Given the description of an element on the screen output the (x, y) to click on. 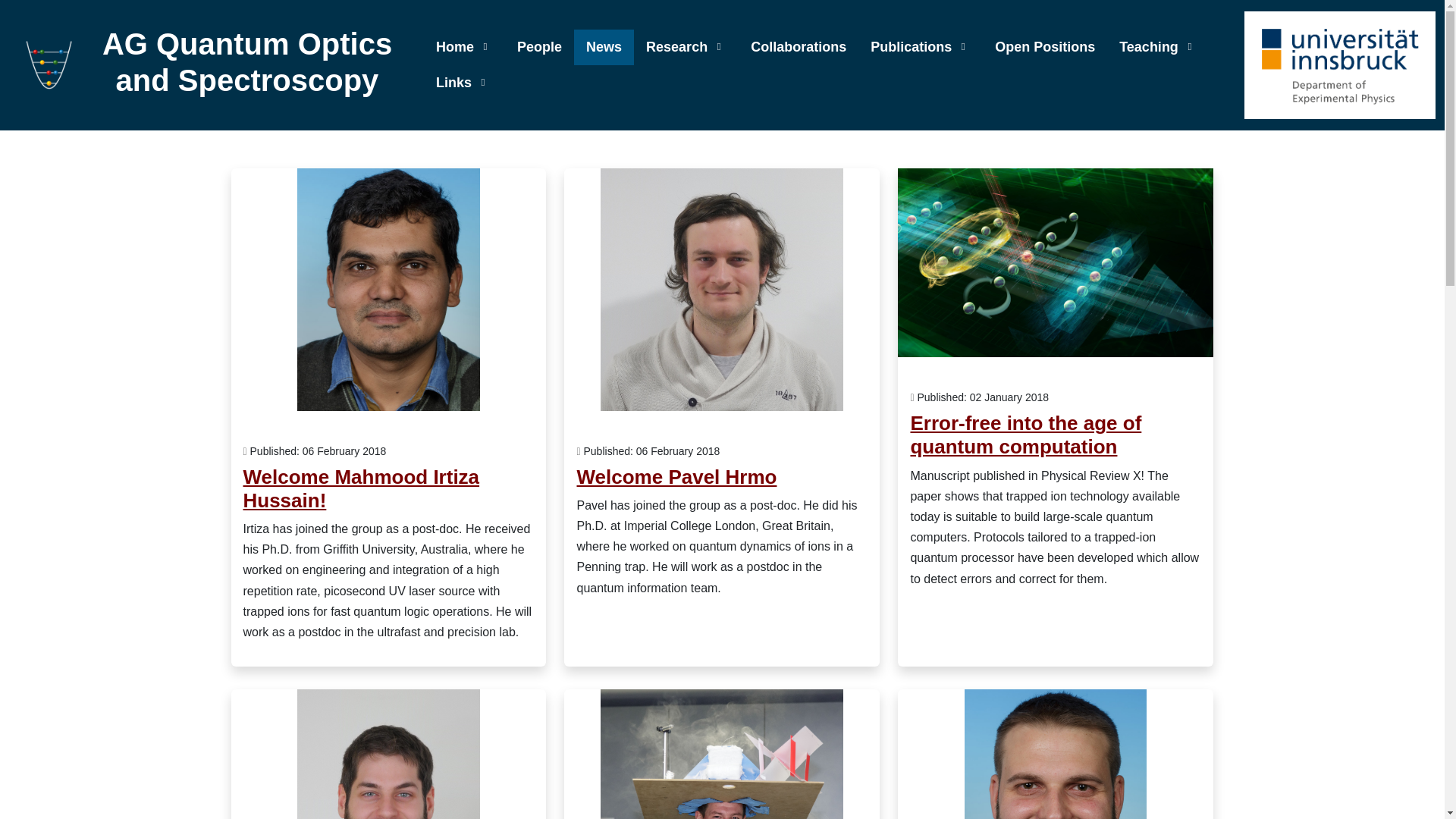
Home (464, 47)
People (539, 47)
Research (685, 47)
News (603, 47)
